Given the description of an element on the screen output the (x, y) to click on. 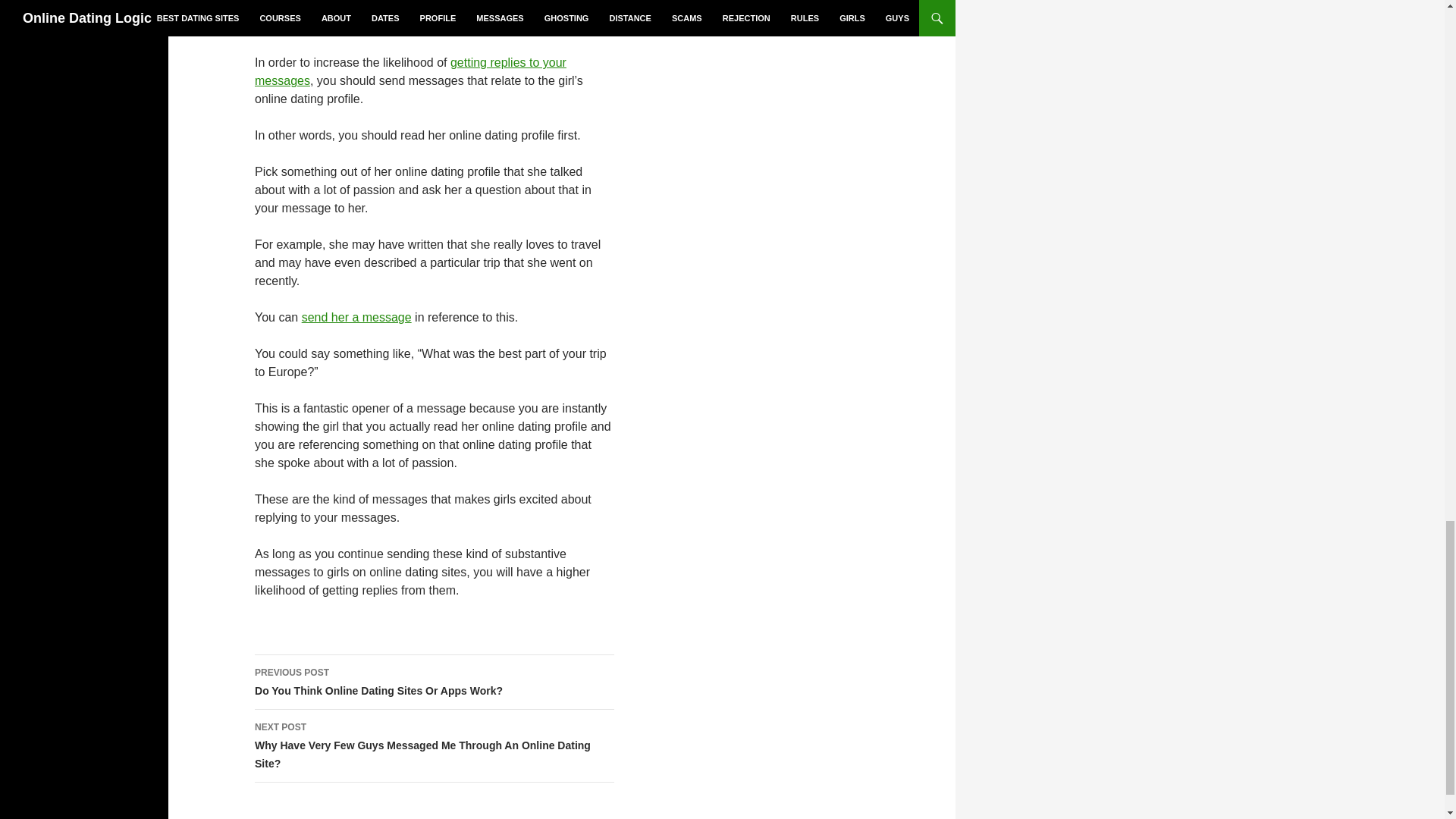
send her a message (356, 317)
getting replies to your messages (410, 71)
